Given the description of an element on the screen output the (x, y) to click on. 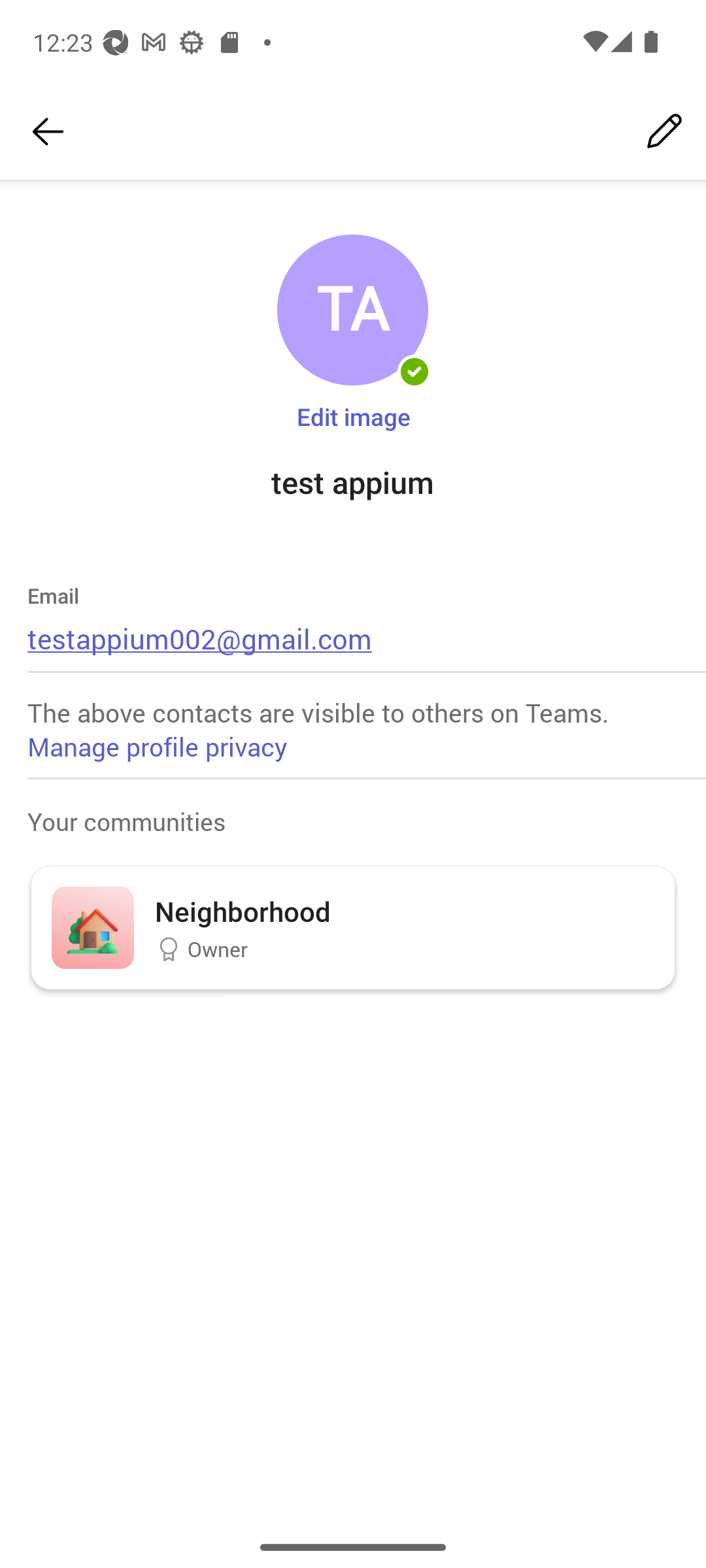
Back (48, 131)
Edit display name (664, 131)
test appium profile picture, Status: Available (352, 310)
Edit image (352, 415)
testappium002@gmail.com (199, 637)
